Given the description of an element on the screen output the (x, y) to click on. 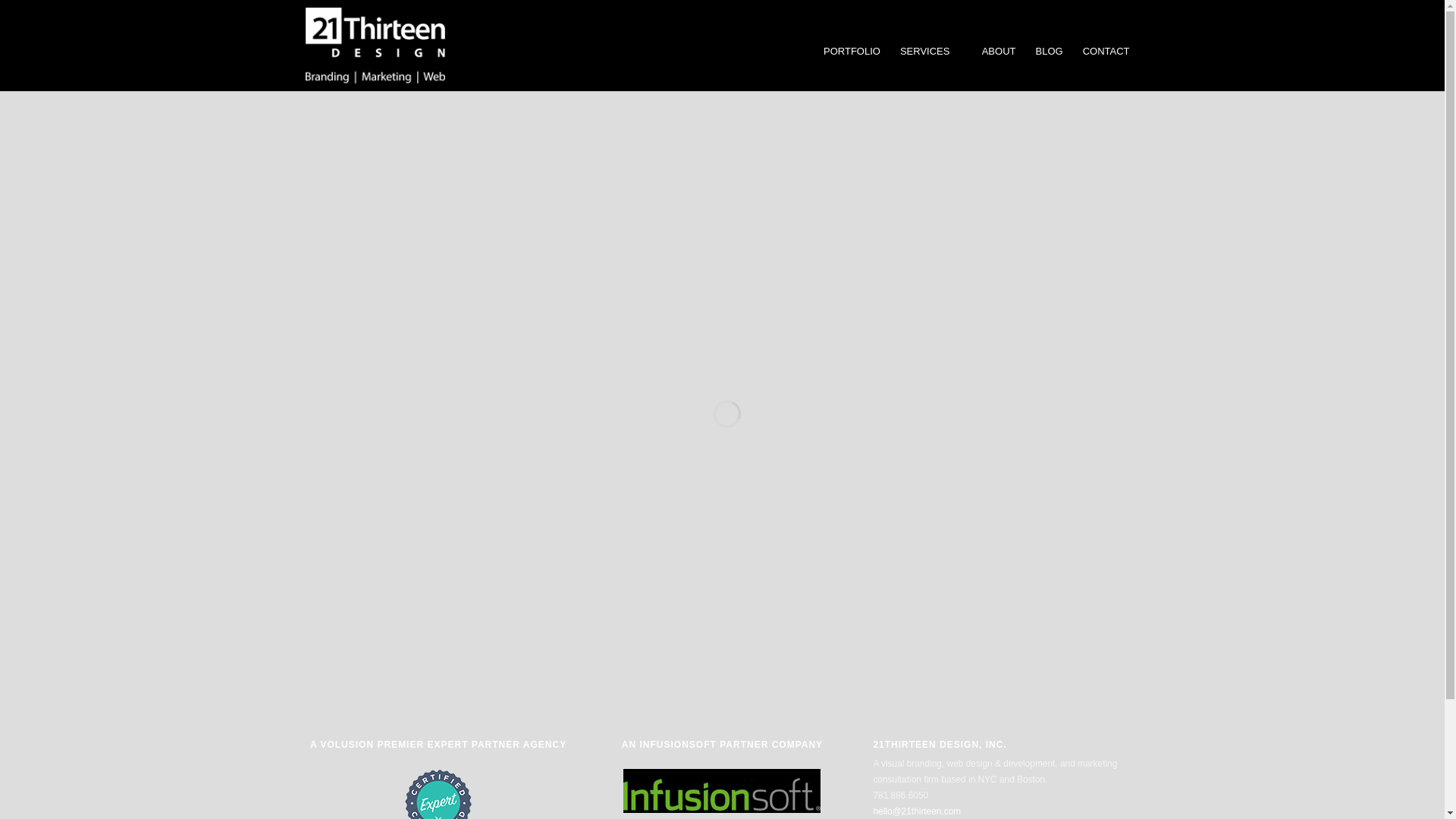
SERVICES Element type: text (931, 51)
hello@21thirteen.com Element type: text (916, 811)
BLOG Element type: text (1048, 51)
21Thirteen Design, Inc. Element type: hover (374, 45)
CONTACT Element type: text (1106, 51)
ABOUT Element type: text (999, 51)
PORTFOLIO Element type: text (851, 51)
